Given the description of an element on the screen output the (x, y) to click on. 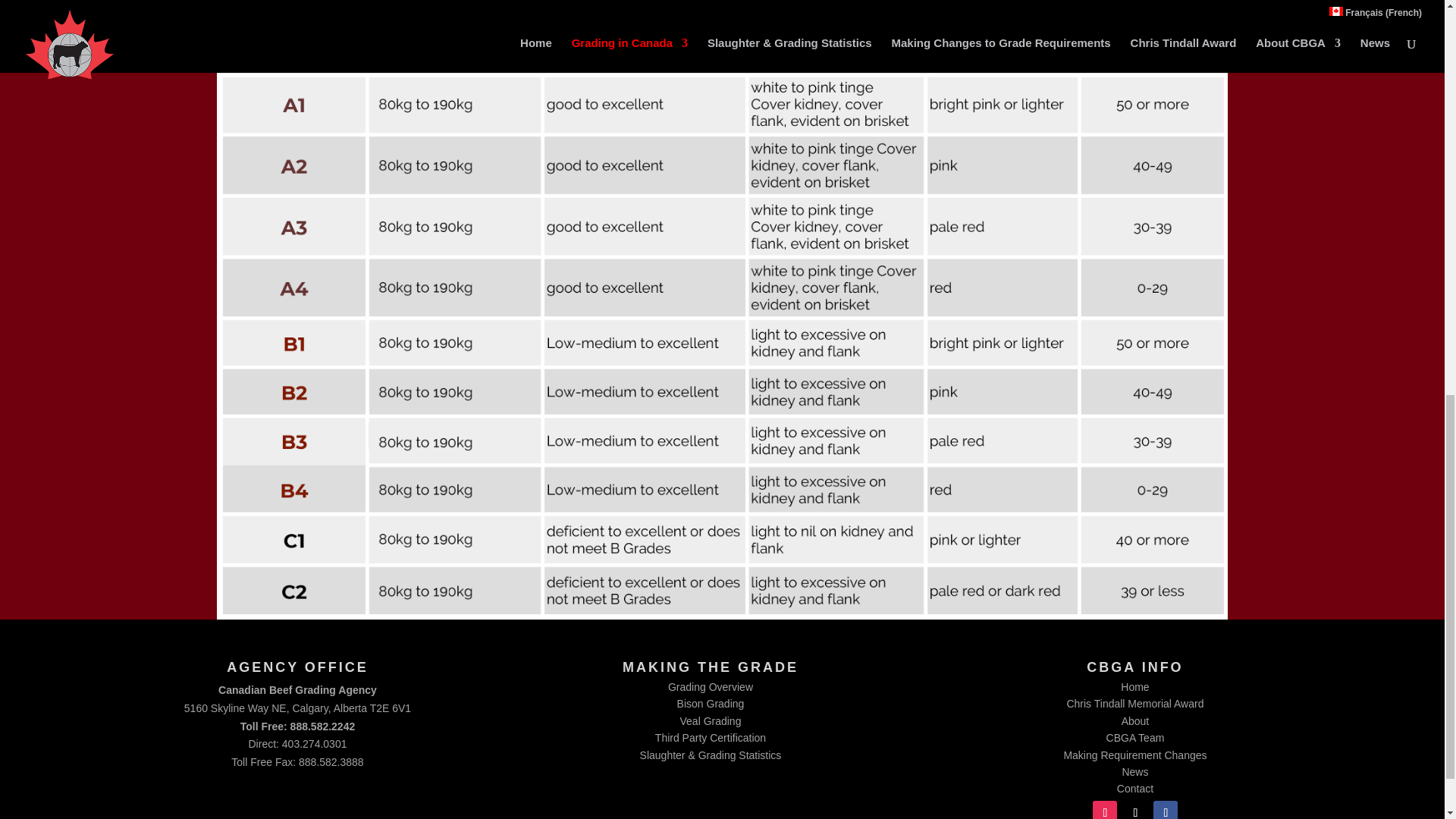
Home (1134, 686)
Follow on Facebook (1165, 809)
Chris Tindall Memorial Award (1134, 703)
Follow on Instagram (1104, 809)
CBGA Team (1135, 737)
Veal Grading (710, 720)
About (1135, 720)
Third Party Certification (710, 737)
Grading Overview (710, 686)
